Given the description of an element on the screen output the (x, y) to click on. 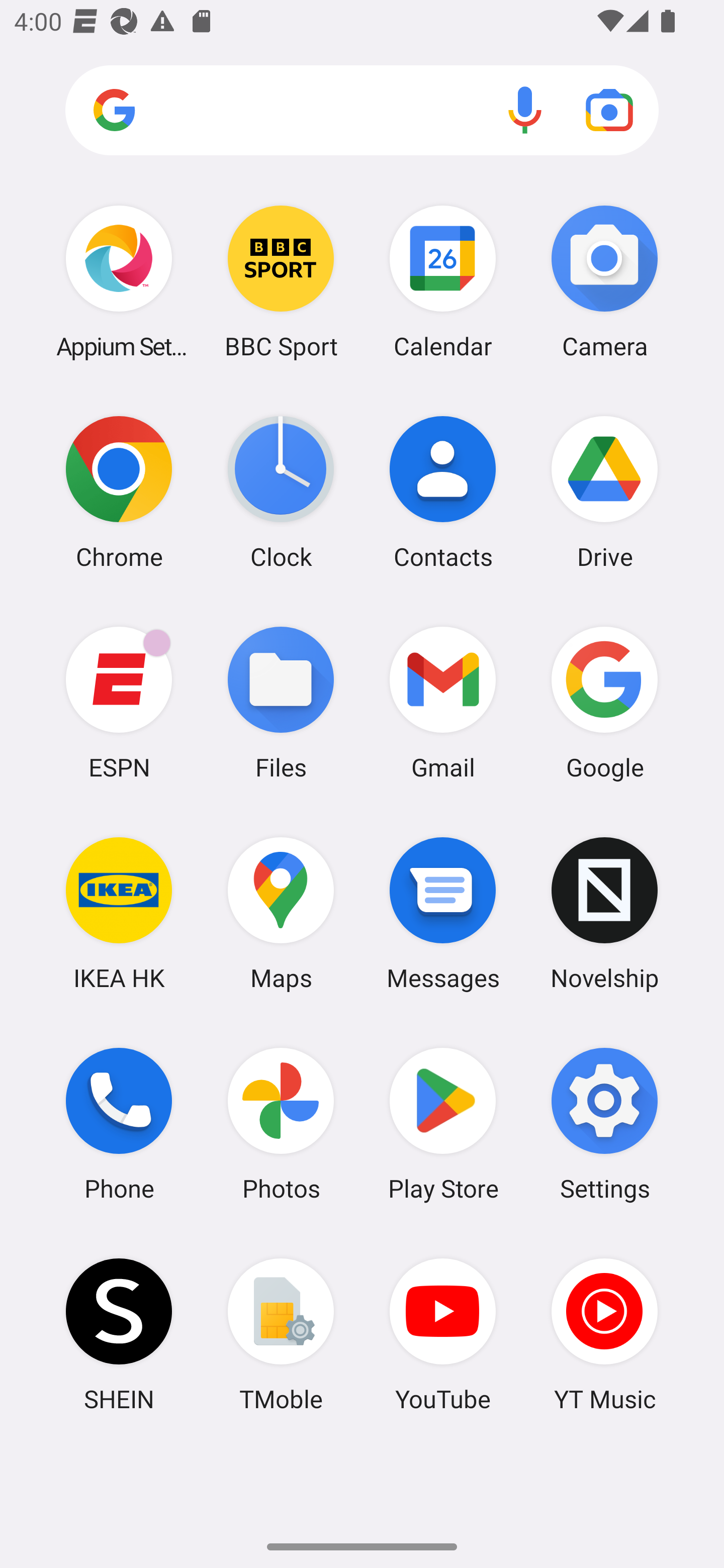
Search apps, web and more (361, 110)
Voice search (524, 109)
Google Lens (608, 109)
Appium Settings (118, 281)
BBC Sport (280, 281)
Calendar (443, 281)
Camera (604, 281)
Chrome (118, 492)
Clock (280, 492)
Contacts (443, 492)
Drive (604, 492)
ESPN ESPN has 3 notifications (118, 702)
Files (280, 702)
Gmail (443, 702)
Google (604, 702)
IKEA HK (118, 913)
Maps (280, 913)
Messages (443, 913)
Novelship (604, 913)
Phone (118, 1124)
Photos (280, 1124)
Play Store (443, 1124)
Settings (604, 1124)
SHEIN (118, 1334)
TMoble (280, 1334)
YouTube (443, 1334)
YT Music (604, 1334)
